Given the description of an element on the screen output the (x, y) to click on. 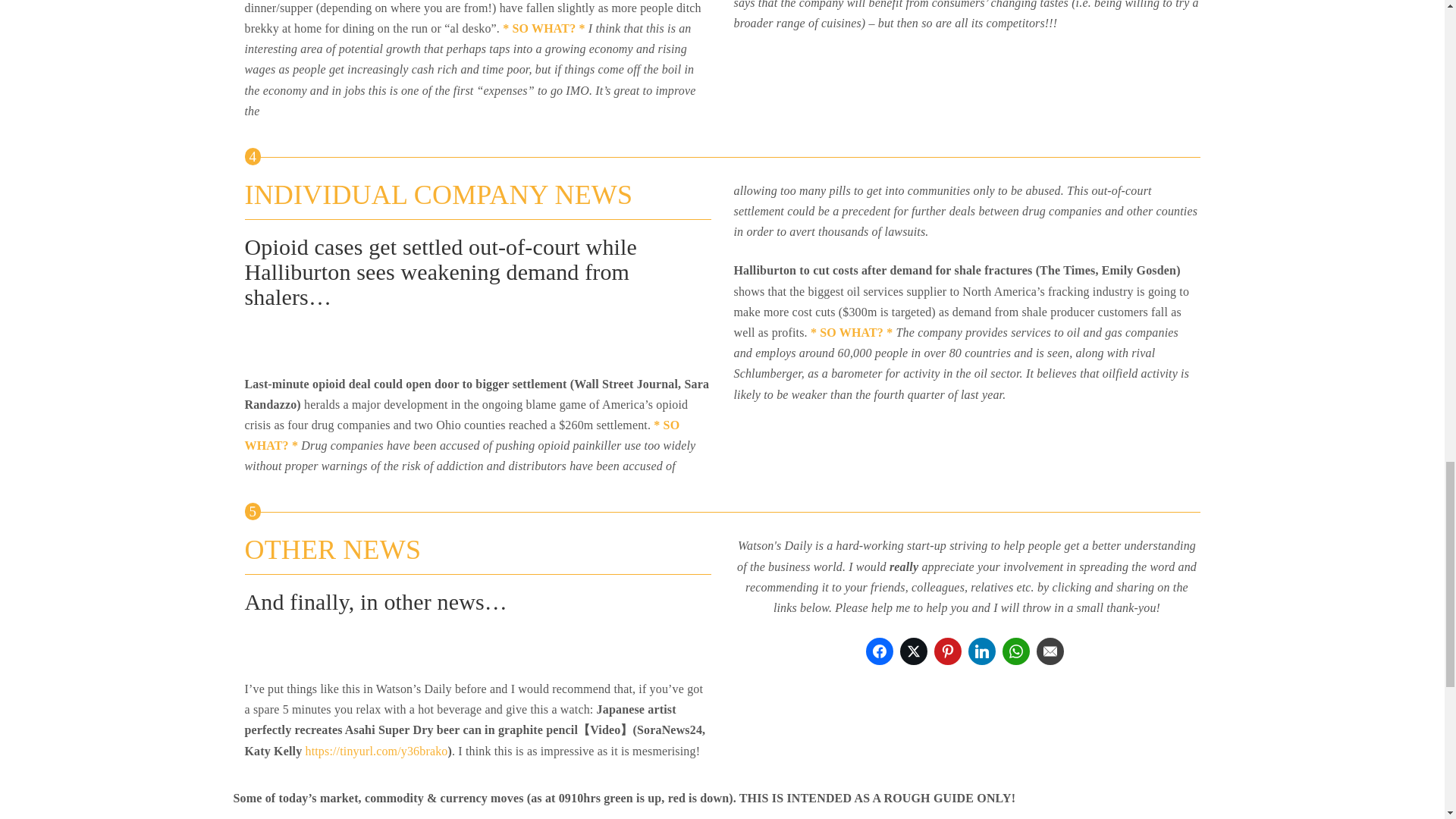
Share on LinkedIn (981, 651)
Share on Facebook (879, 651)
Share on Pinterest (947, 651)
Share on Twitter (913, 651)
Share on WhatsApp (1016, 651)
Share on Email (1050, 651)
